Given the description of an element on the screen output the (x, y) to click on. 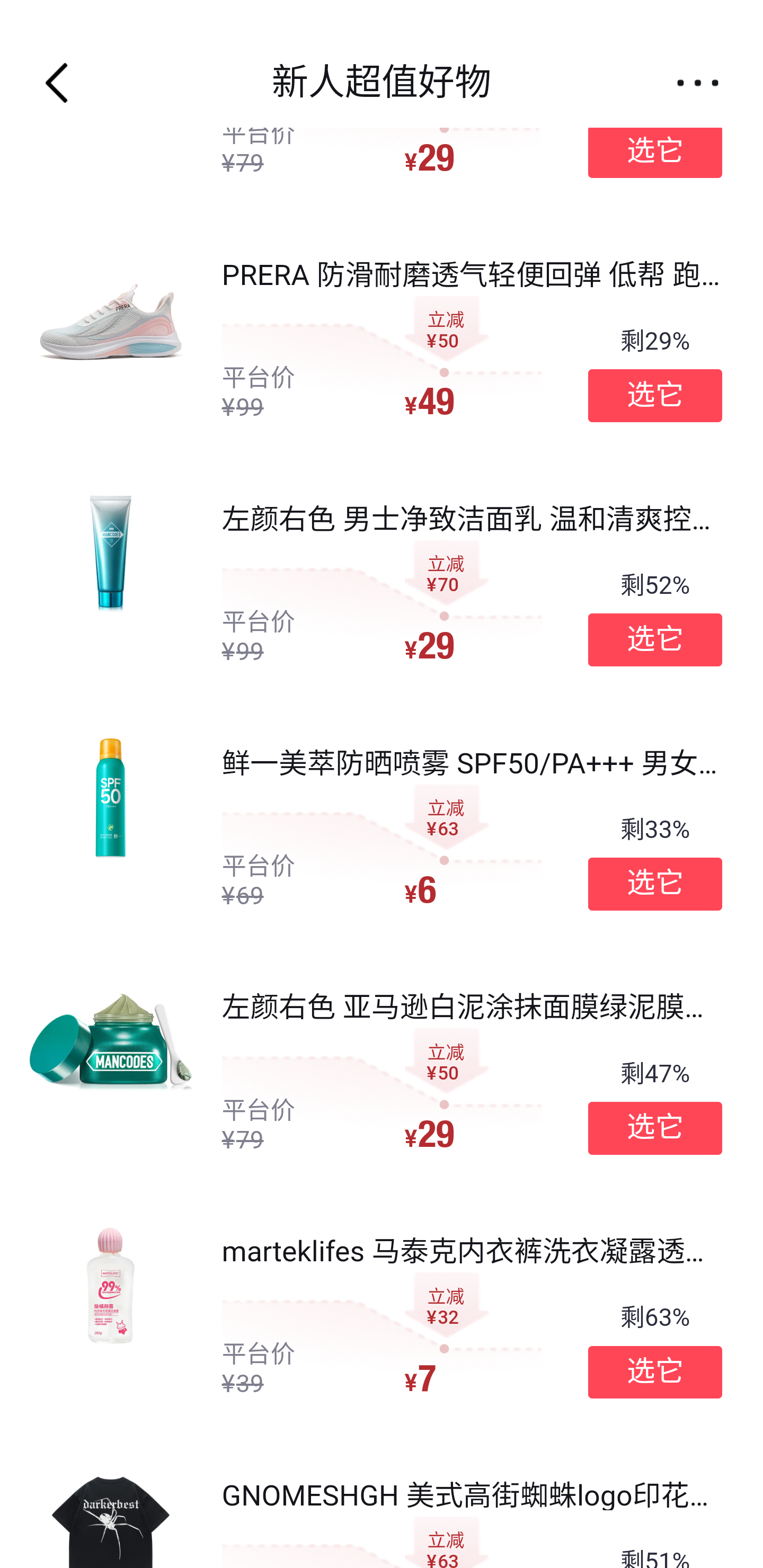
选它 (654, 151)
选它 (654, 395)
选它 (654, 640)
选它 (654, 883)
选它 (654, 1127)
选它 (654, 1371)
GNOMESHGH 美式高街蜘蛛logo印花休闲宽松圆领短袖T恤 男女同款 白色 剩51% (381, 1502)
